Given the description of an element on the screen output the (x, y) to click on. 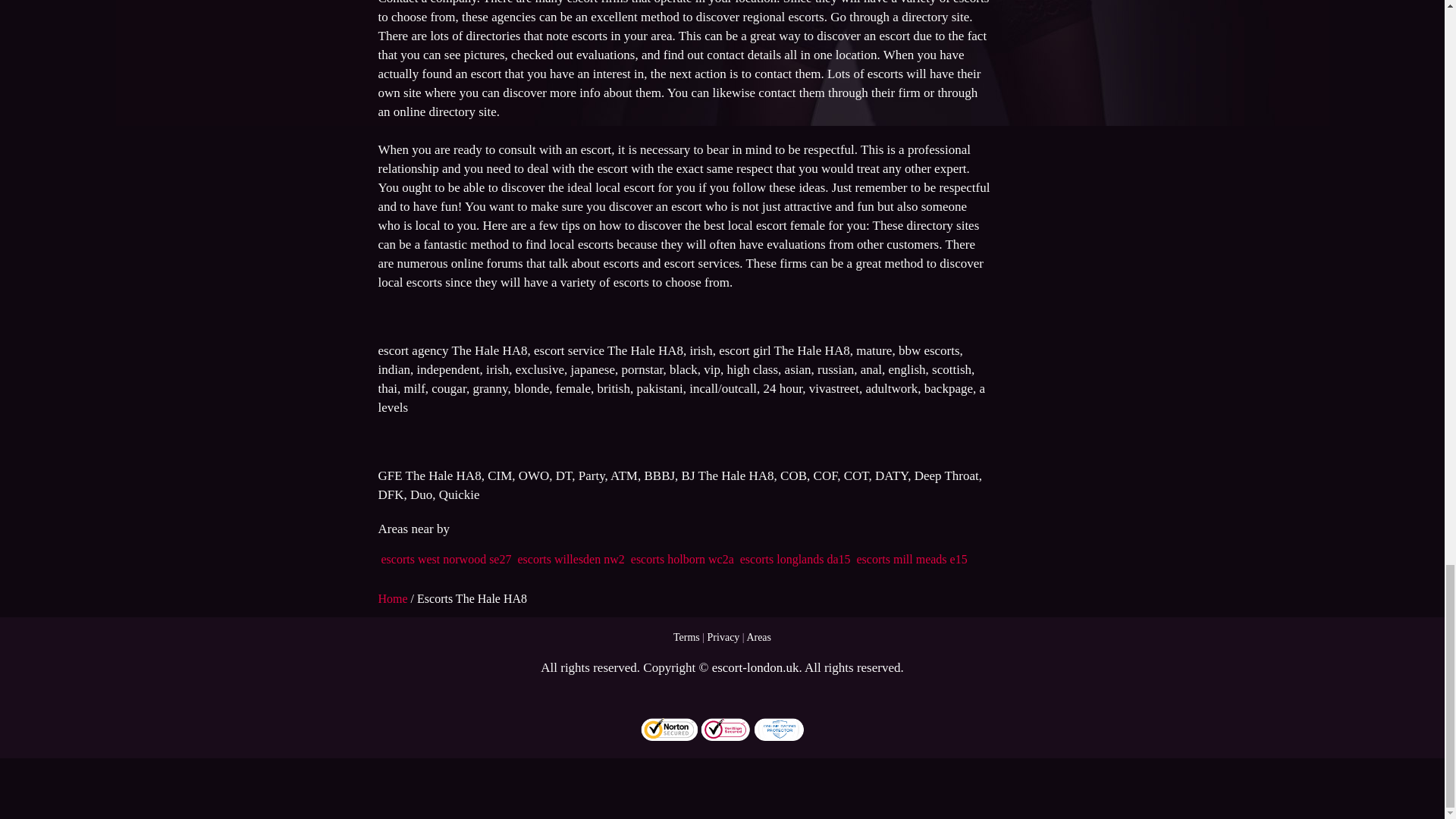
Terms (686, 636)
escorts mill meads e15 (912, 558)
escort-london.uk (755, 667)
escorts longlands da15 (794, 558)
Home (393, 598)
Privacy (723, 636)
Areas (758, 636)
escort-london.uk (755, 667)
Areas (758, 636)
escorts holborn wc2a (681, 558)
